Given the description of an element on the screen output the (x, y) to click on. 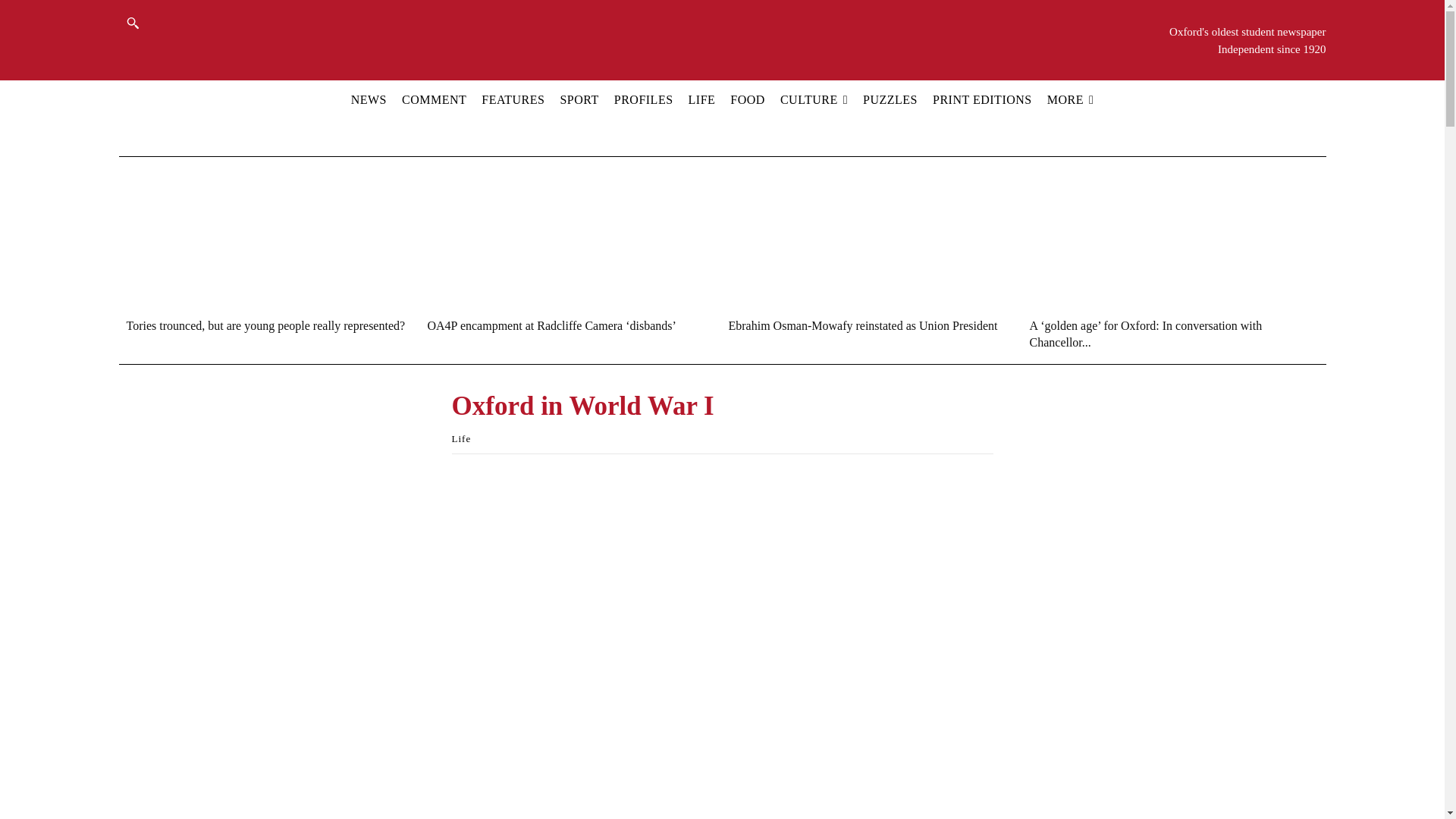
Ebrahim Osman-Mowafy reinstated as Union President (862, 325)
CULTURE (813, 99)
LIFE (701, 99)
Tories trounced, but are young people really represented? (264, 325)
PROFILES (643, 99)
FOOD (747, 99)
Ebrahim Osman-Mowafy reinstated as Union President (863, 235)
Tories trounced, but are young people really represented? (260, 235)
FEATURES (512, 99)
COMMENT (433, 99)
NEWS (368, 99)
SPORT (579, 99)
View all posts in Life (461, 438)
